Given the description of an element on the screen output the (x, y) to click on. 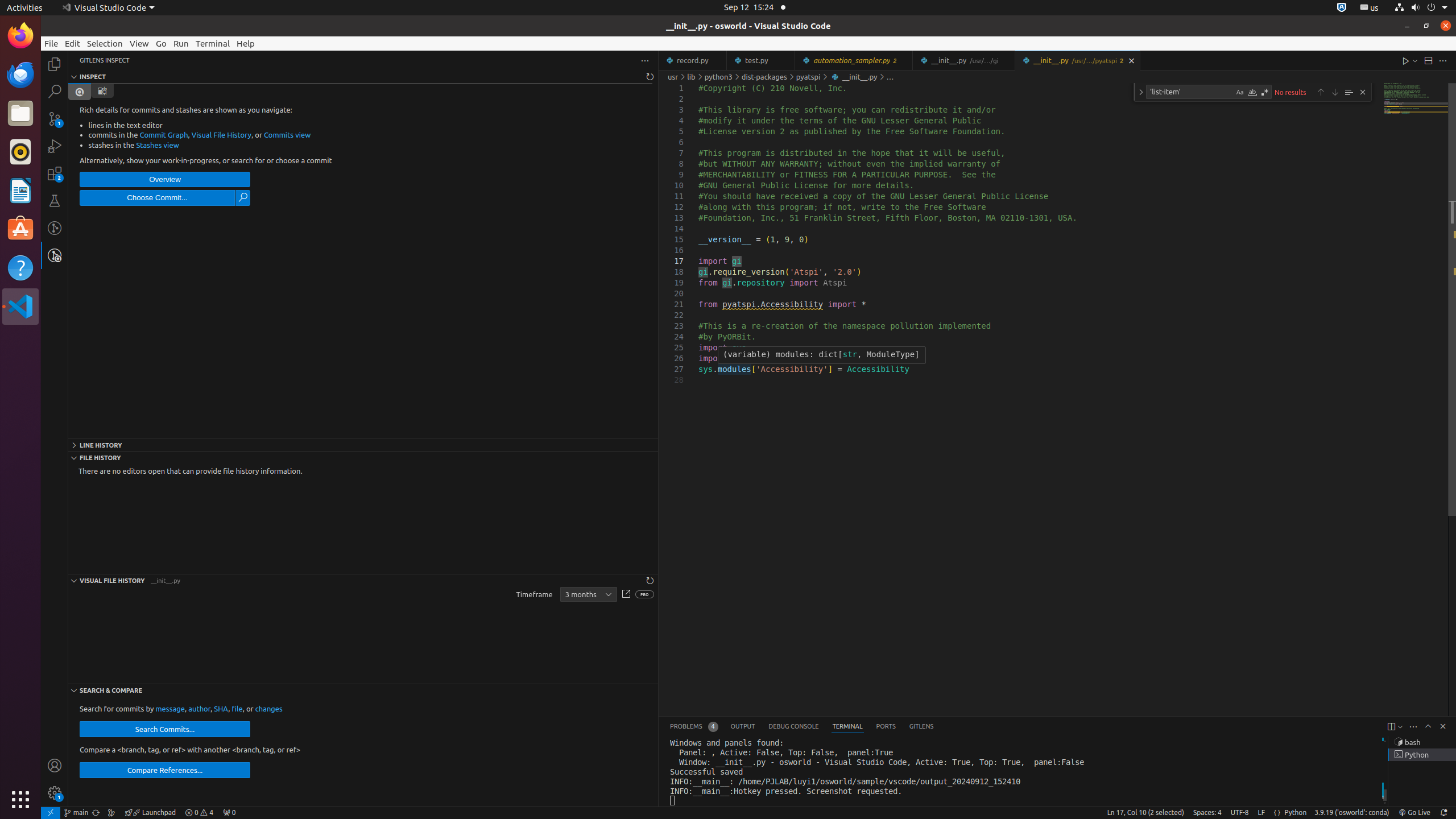
Terminal 5 Python Element type: list-item (1422, 754)
Selection Element type: push-button (104, 43)
Run Python File Element type: push-button (1405, 60)
Commits view Element type: link (287, 134)
